Given the description of an element on the screen output the (x, y) to click on. 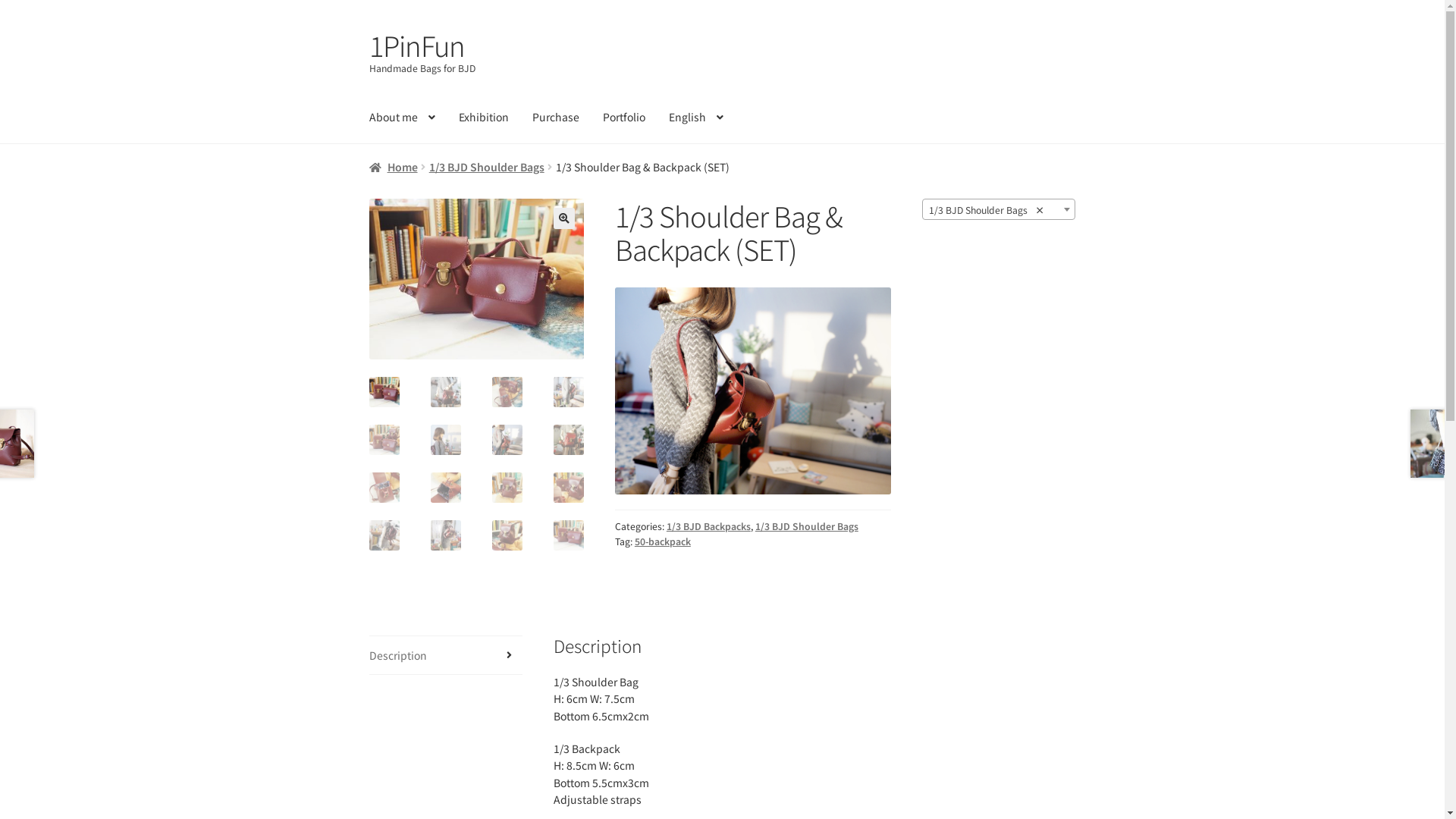
1/3 BJD Backpacks Element type: text (708, 526)
OLYMPUS DIGITAL CAMERA Element type: hover (690, 341)
English Element type: text (696, 117)
Description Element type: text (445, 655)
1/3 BJD Shoulder Bags Element type: text (806, 526)
Exhibition Element type: text (483, 116)
1PinFun Element type: text (416, 44)
Skip to navigation Element type: text (368, 27)
1/3 BJD Shoulder Bags Element type: text (486, 166)
About me Element type: text (401, 117)
Portfolio Element type: text (623, 116)
OLYMPUS DIGITAL CAMERA Element type: hover (476, 278)
Home Element type: text (393, 166)
Purchase Element type: text (555, 116)
50-backpack Element type: text (662, 541)
